Given the description of an element on the screen output the (x, y) to click on. 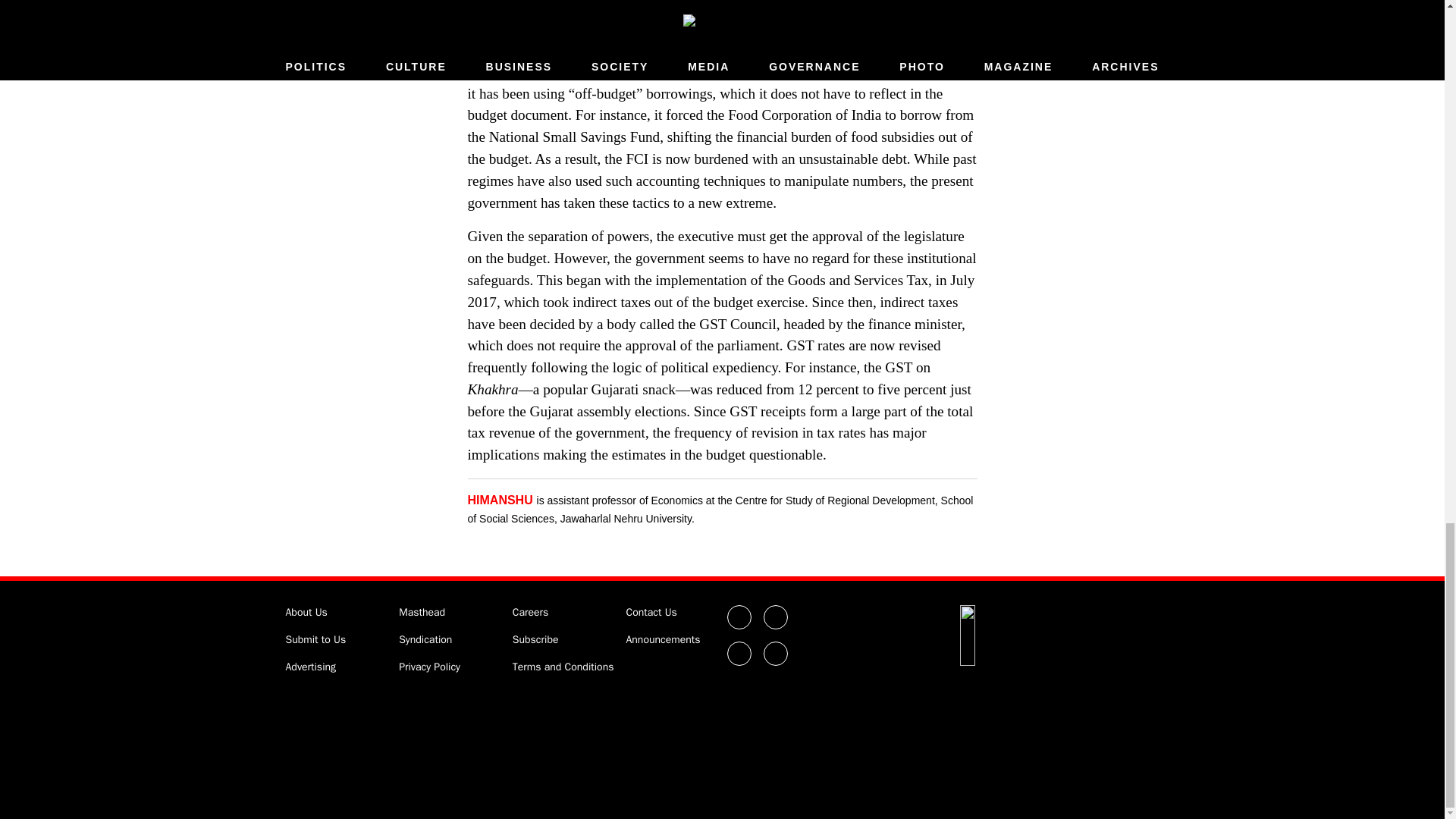
Announcements (663, 639)
About Us (305, 612)
Privacy Policy (429, 666)
Careers (530, 612)
Contact Us (651, 612)
Submit to Us (315, 639)
Subscribe (535, 639)
Terms and Conditions (563, 666)
Masthead (421, 612)
Advertising (310, 666)
